Given the description of an element on the screen output the (x, y) to click on. 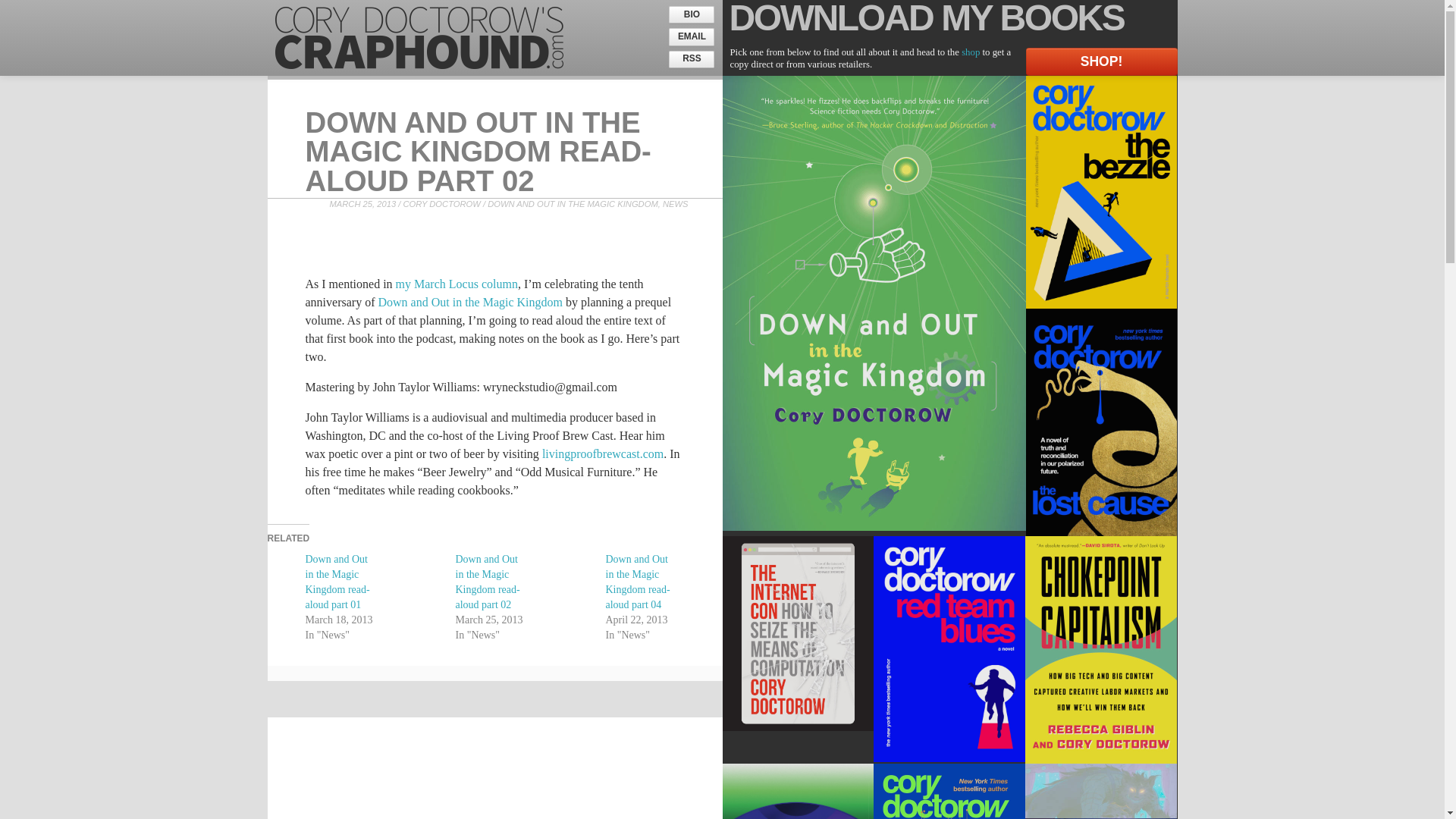
RSS (691, 58)
Down and Out in the Magic Kingdom read-aloud part 04 (637, 581)
Down and Out in the Magic Kingdom read-aloud part 02 (477, 151)
Down and Out in the Magic Kingdom read-aloud part 01 (336, 581)
BIO (691, 14)
Down and Out in the Magic Kingdom read-aloud part 02 (486, 581)
EMAIL (691, 36)
Posts by Cory Doctorow (441, 203)
